Given the description of an element on the screen output the (x, y) to click on. 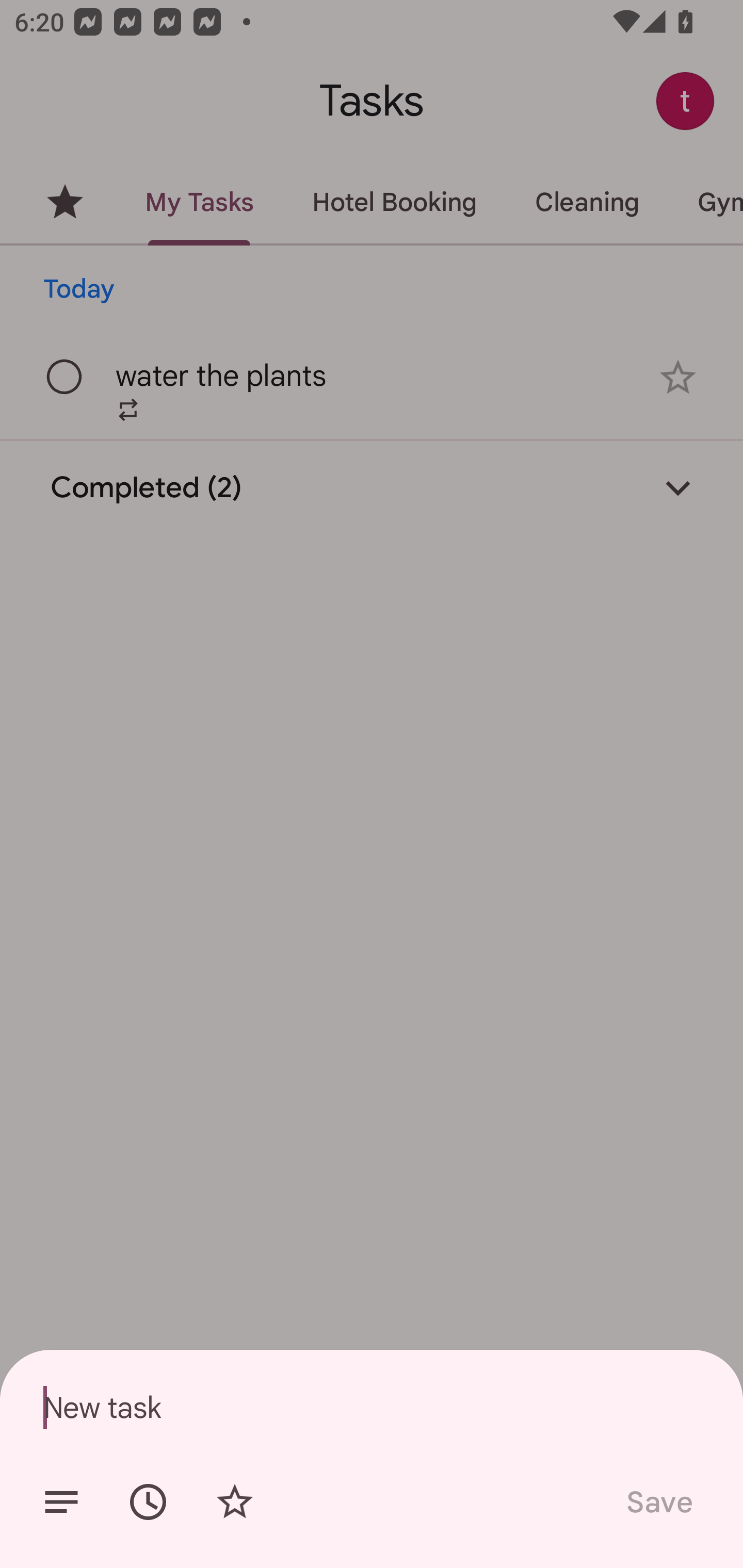
New task (371, 1407)
Save (659, 1501)
Add details (60, 1501)
Set date/time (147, 1501)
Add star (234, 1501)
